Given the description of an element on the screen output the (x, y) to click on. 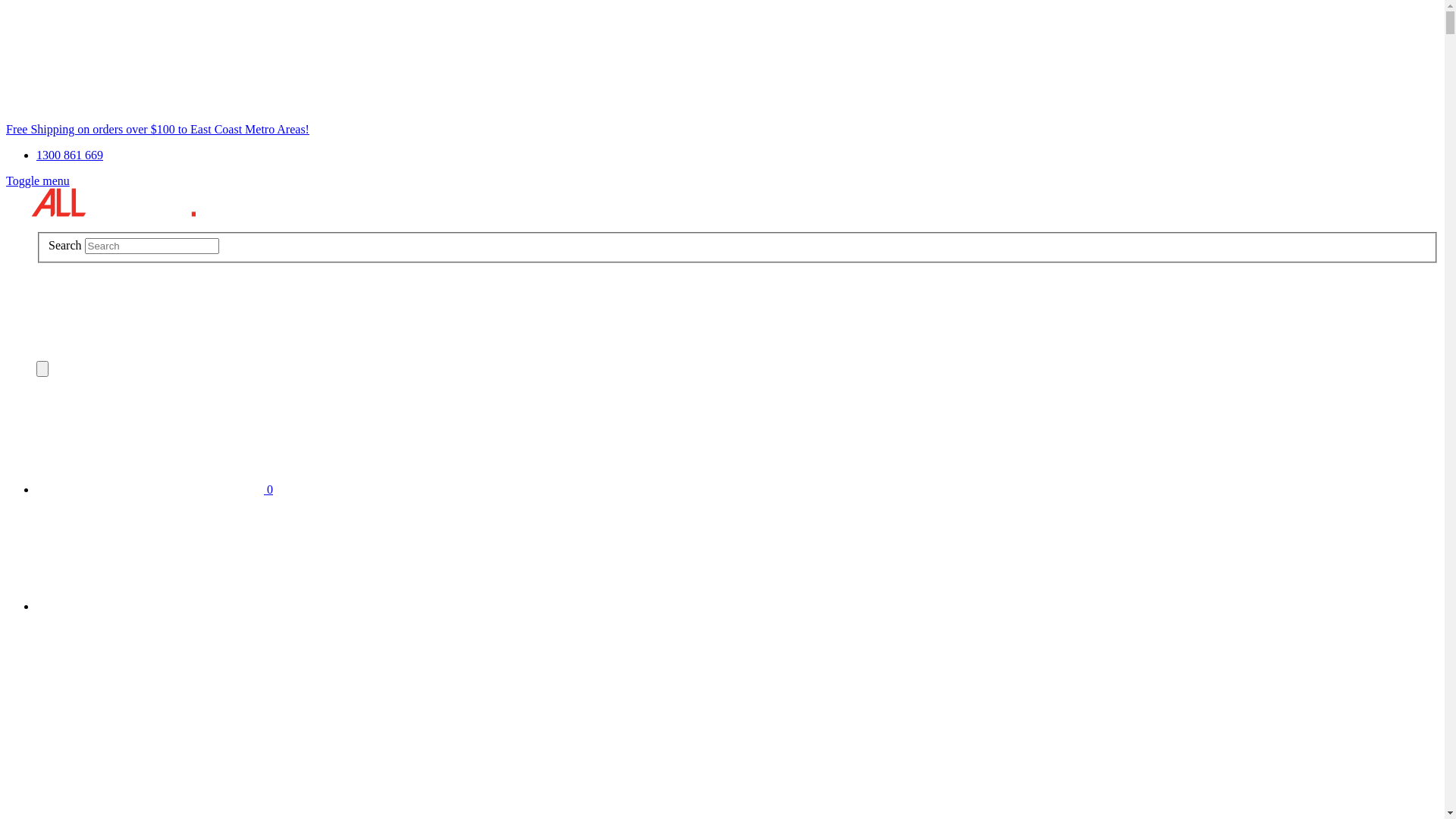
Free Shipping on orders over $100 to East Coast Metro Areas! Element type: text (157, 128)
Toggle menu Element type: text (37, 180)
submit Element type: hover (165, 319)
Mall Music Element type: hover (100, 202)
0 Element type: text (154, 489)
1300 861 669 Element type: text (69, 154)
